Given the description of an element on the screen output the (x, y) to click on. 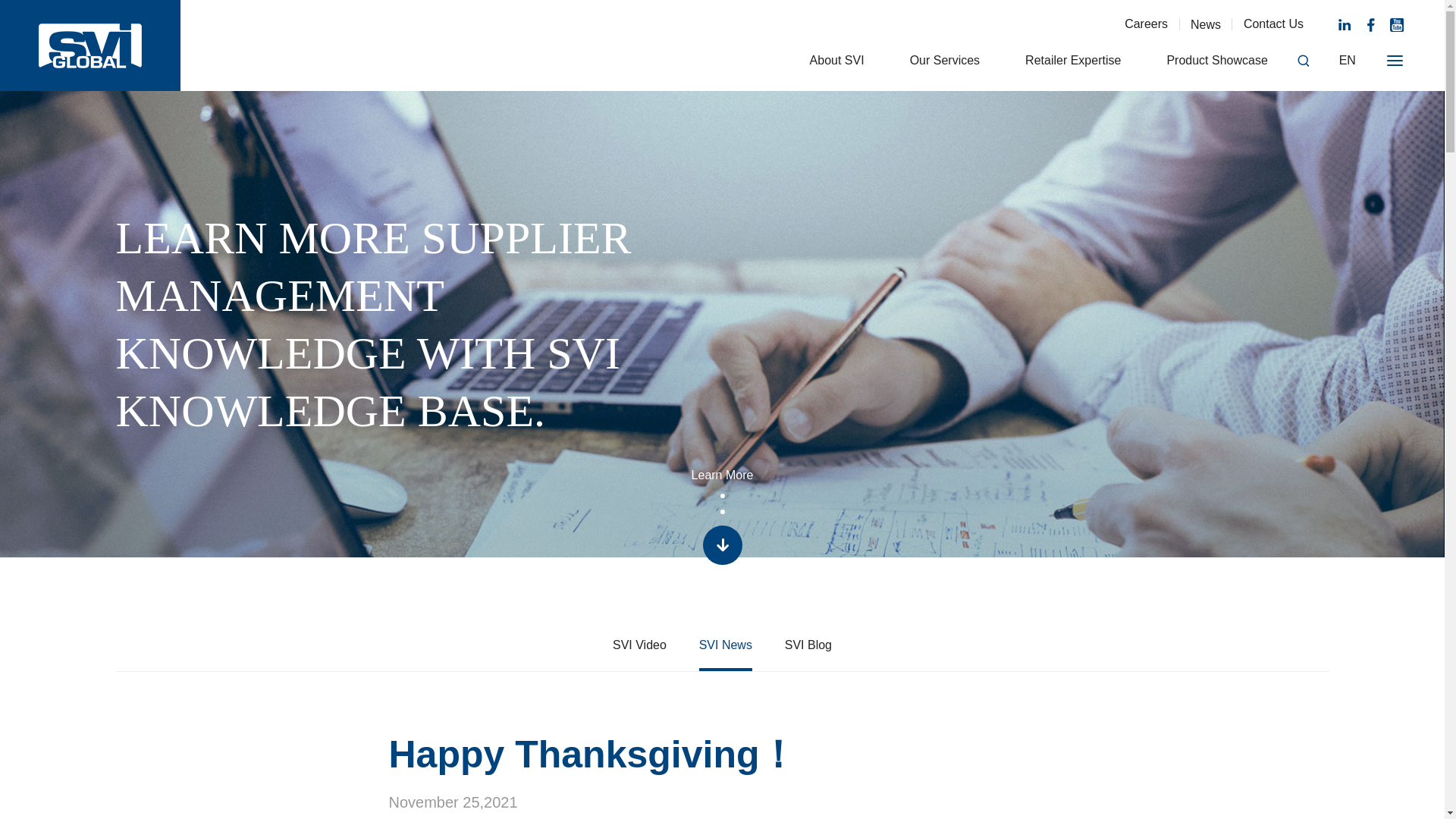
About SVI (836, 60)
News (1206, 24)
Careers (1145, 24)
Our Services (944, 60)
Product Showcase (1216, 60)
Contact Us (1273, 24)
Retailer Expertise (1073, 60)
